Given the description of an element on the screen output the (x, y) to click on. 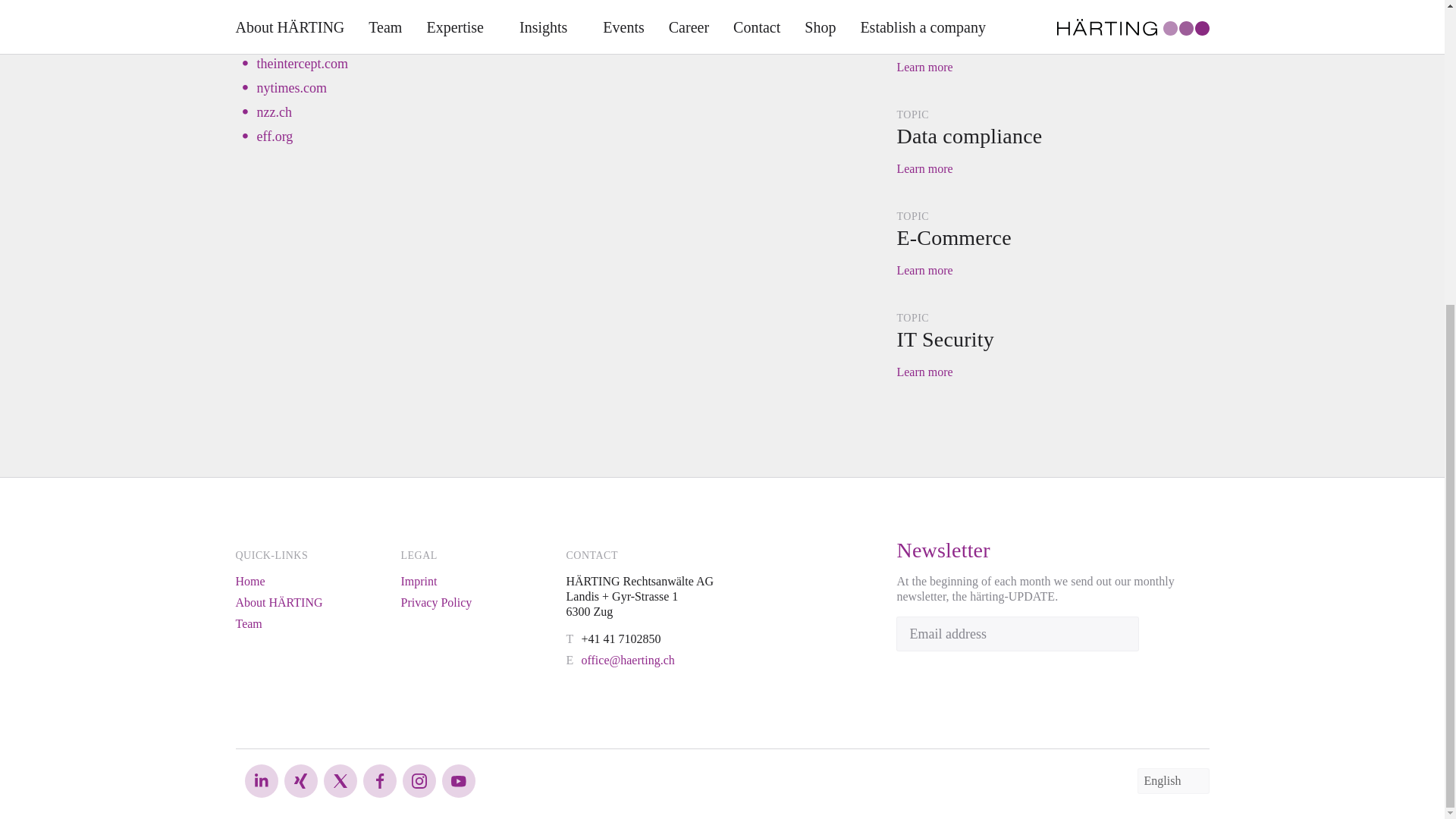
Subscribe (1120, 633)
